Given the description of an element on the screen output the (x, y) to click on. 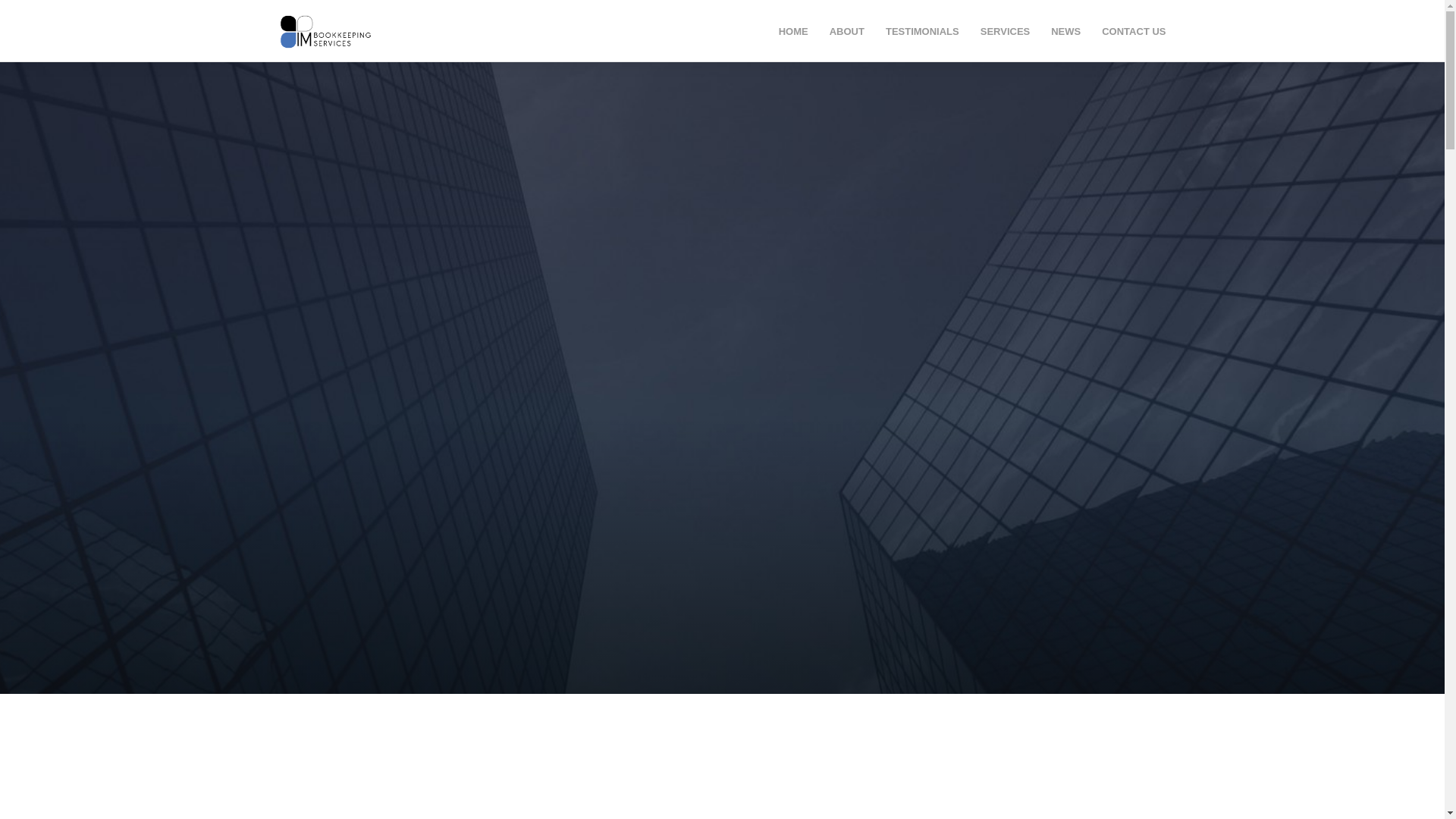
ABOUT Element type: text (846, 31)
NEWS Element type: text (1065, 31)
CONTACT US Element type: text (1133, 31)
SERVICES Element type: text (1005, 31)
TESTIMONIALS Element type: text (922, 31)
HOME Element type: text (793, 31)
